Given the description of an element on the screen output the (x, y) to click on. 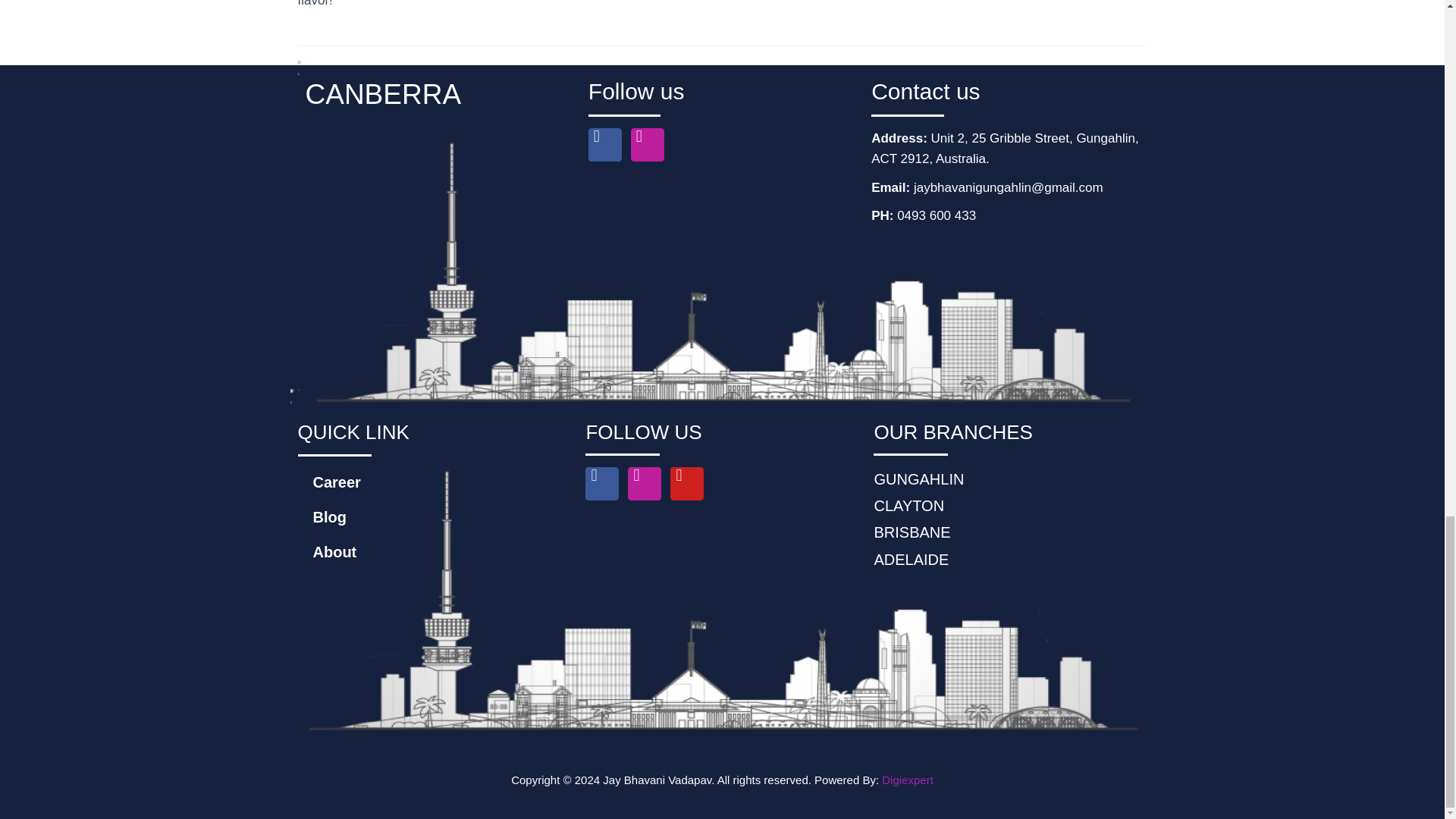
BRISBANE (1010, 532)
ADELAIDE (1010, 559)
Digiexpert (907, 779)
CLAYTON (1010, 505)
Career (433, 482)
Blog (433, 516)
GUNGAHLIN (1010, 478)
About (433, 551)
